Given the description of an element on the screen output the (x, y) to click on. 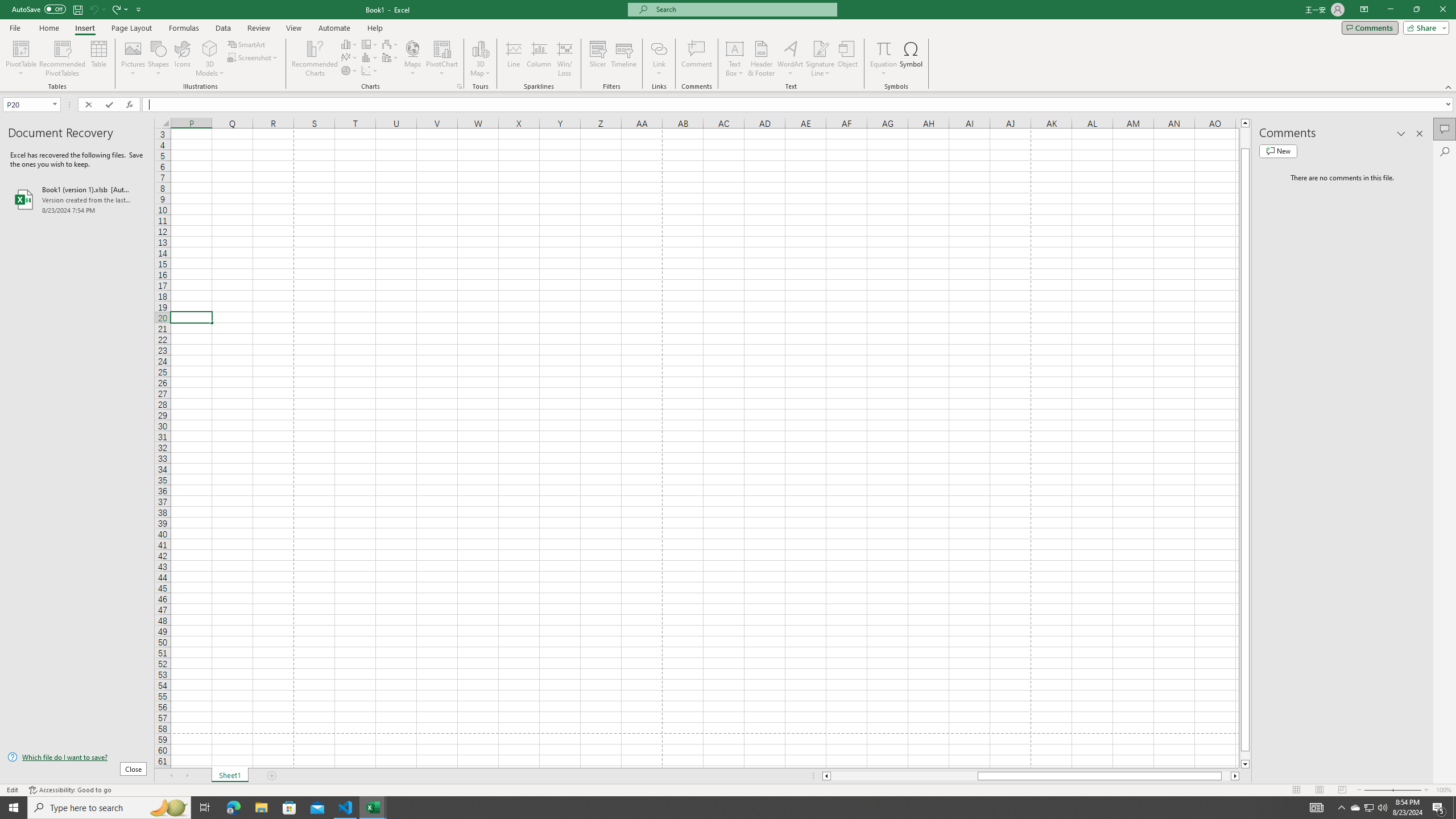
Insert Waterfall, Funnel, Stock, Surface, or Radar Chart (390, 44)
Insert Line or Area Chart (349, 56)
Insert Column or Bar Chart (349, 44)
Symbol... (911, 58)
